Given the description of an element on the screen output the (x, y) to click on. 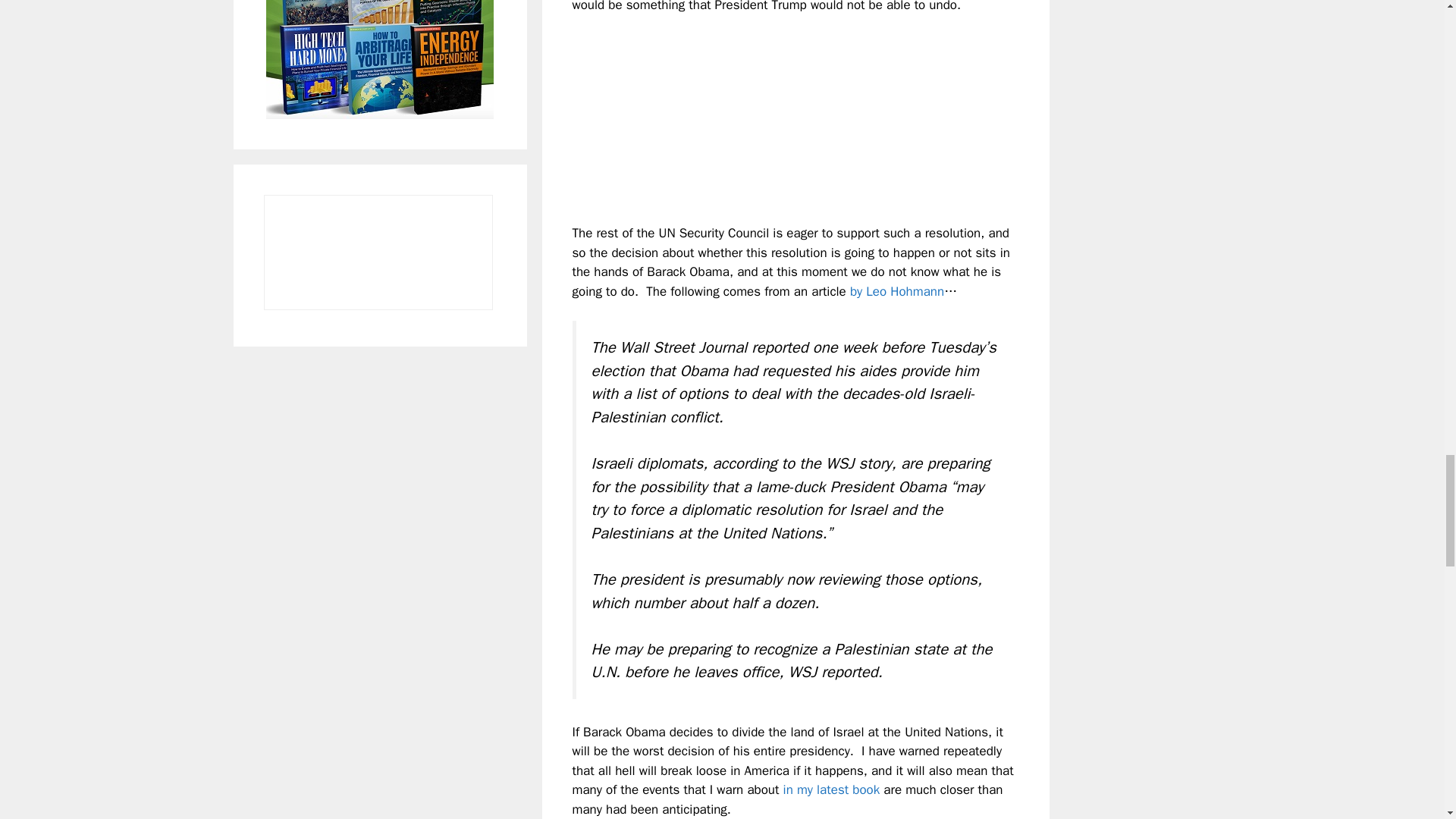
by Leo Hohmann (896, 291)
in my latest book (831, 789)
